Given the description of an element on the screen output the (x, y) to click on. 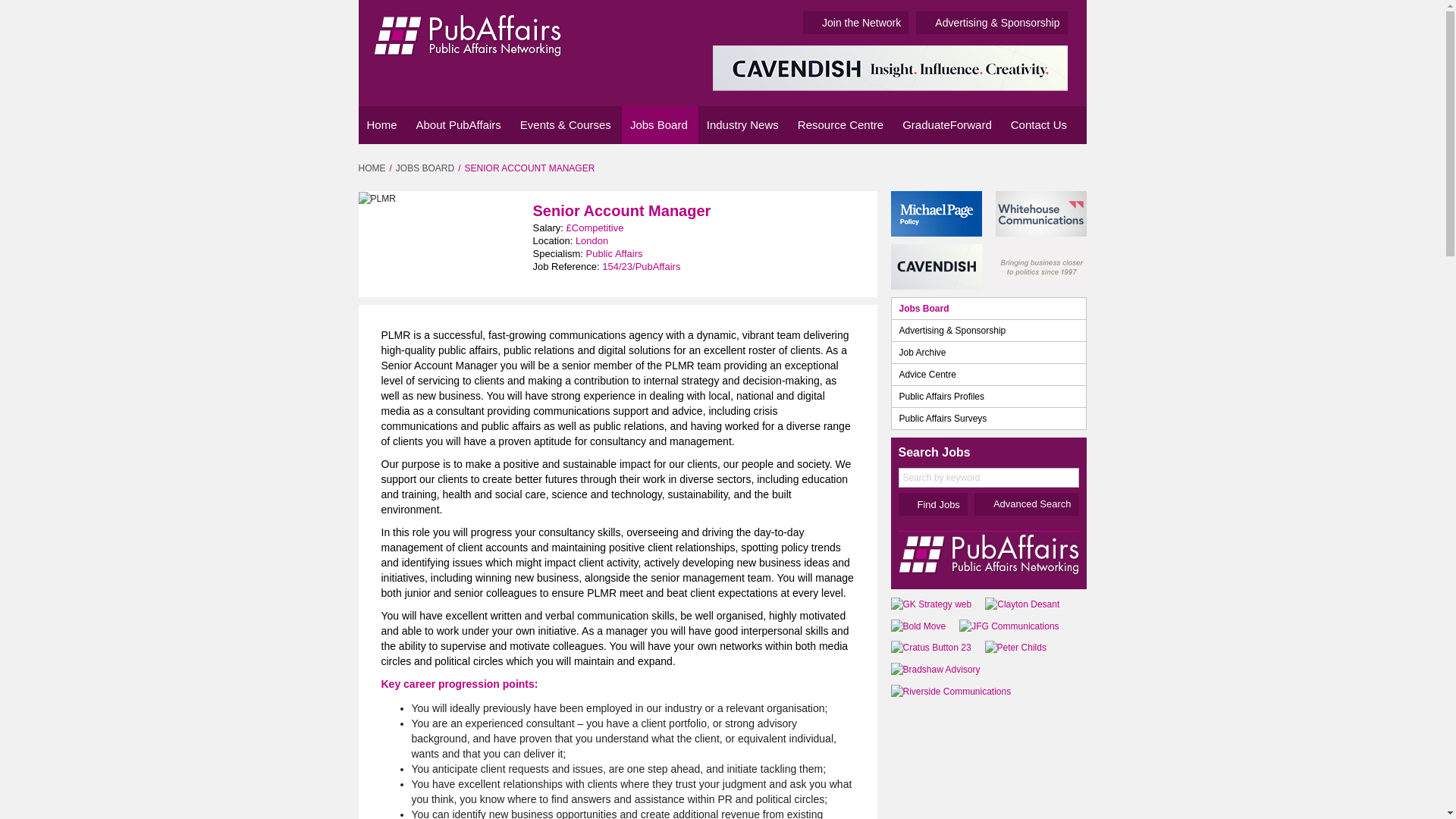
Home (382, 125)
Find Jobs (932, 504)
About PubAffairs (459, 125)
Follow PubAffairs on Youtube (1071, 167)
Join the Network (855, 22)
Connect with PubAffairs on LinkedIn (1026, 167)
Follow PubAffairs on Twitter (1048, 167)
Jobs Board (659, 125)
